Given the description of an element on the screen output the (x, y) to click on. 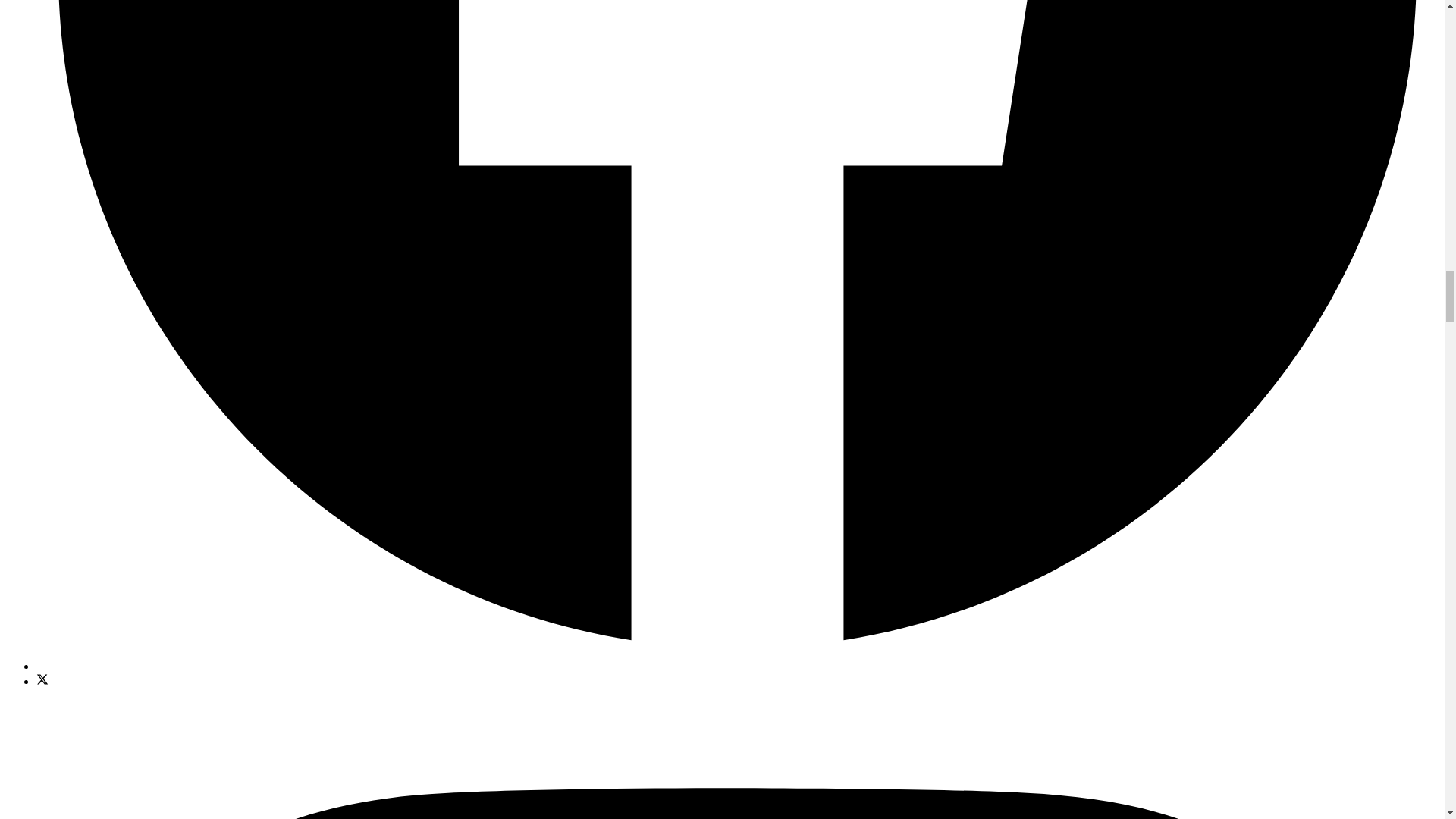
X (42, 679)
